Given the description of an element on the screen output the (x, y) to click on. 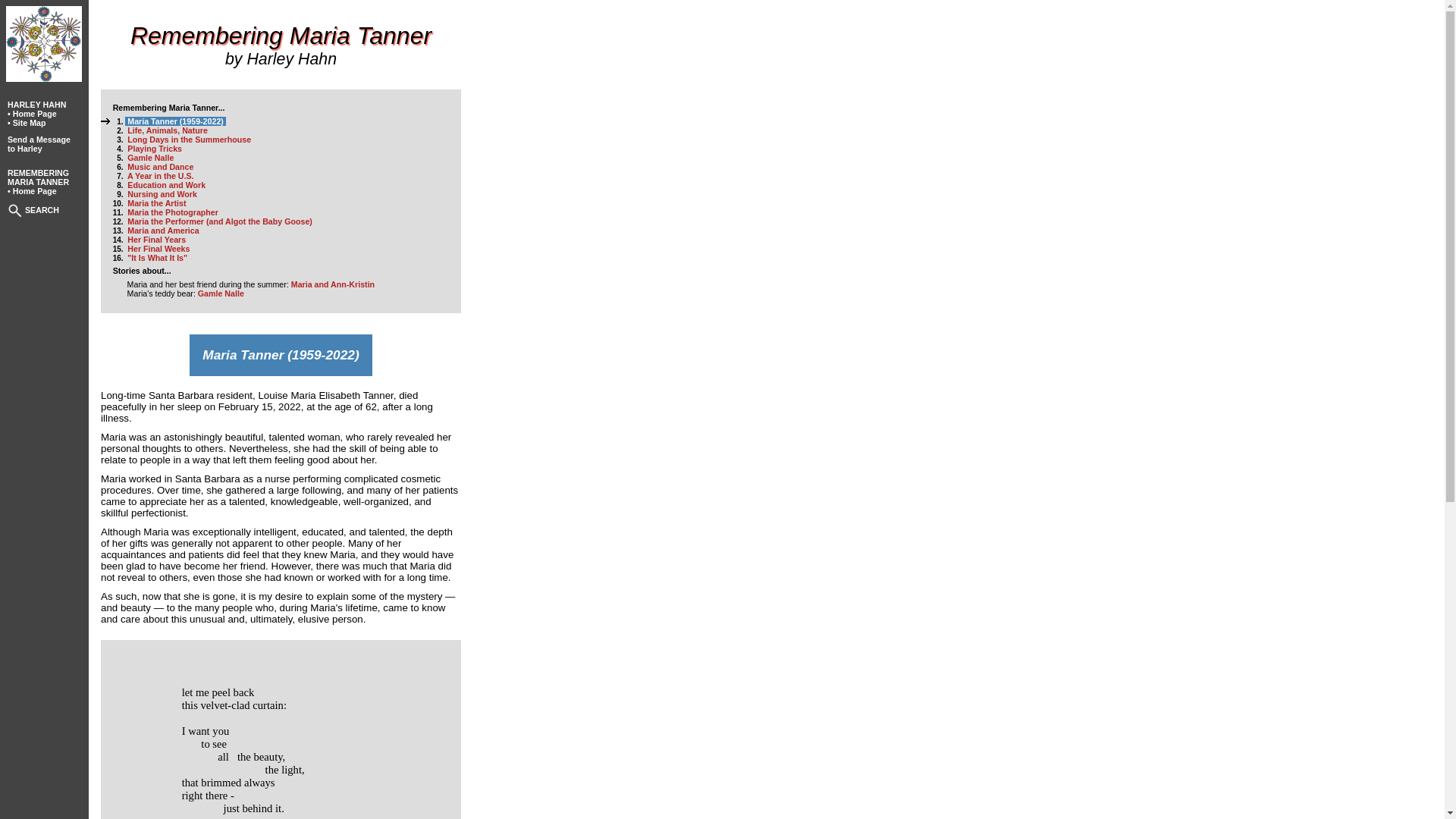
SEARCH (41, 209)
 Her Final Years  (156, 239)
 Maria the Photographer  (173, 212)
Maria and Ann-Kristin (332, 284)
 A Year in the U.S.  (160, 175)
 "It Is What It Is"  (157, 257)
 Gamle Nalle  (150, 157)
 Nursing and Work  (162, 194)
HARLEY HAHN (36, 103)
Gamle Nalle (221, 293)
